Given the description of an element on the screen output the (x, y) to click on. 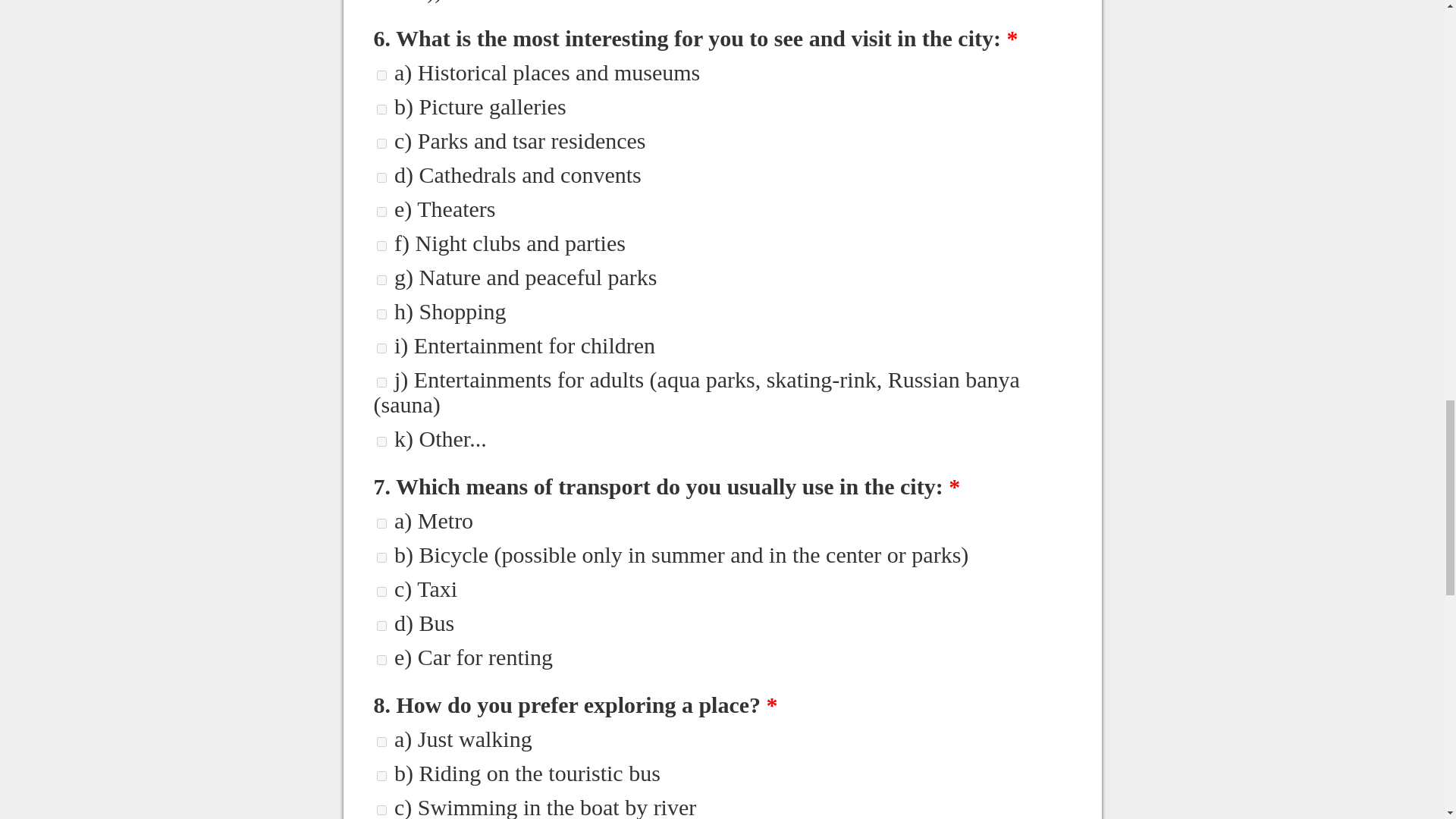
Parks (380, 143)
museums (380, 75)
Cathedrals (380, 177)
galleries (380, 109)
